Given the description of an element on the screen output the (x, y) to click on. 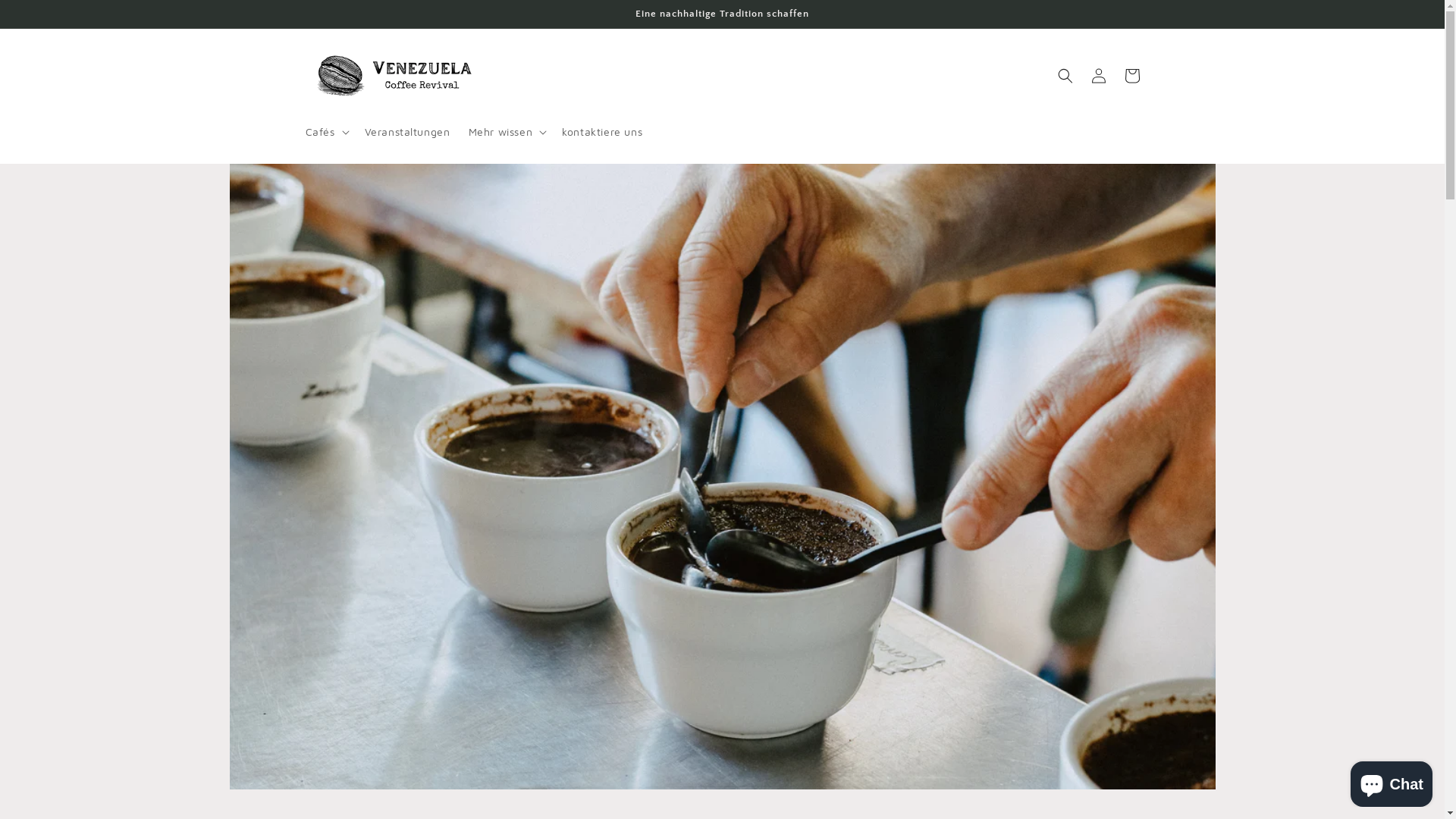
Warenkorb Element type: text (1131, 75)
Veranstaltungen Element type: text (406, 131)
kontaktiere uns Element type: text (601, 131)
Einloggen Element type: text (1097, 75)
